Given the description of an element on the screen output the (x, y) to click on. 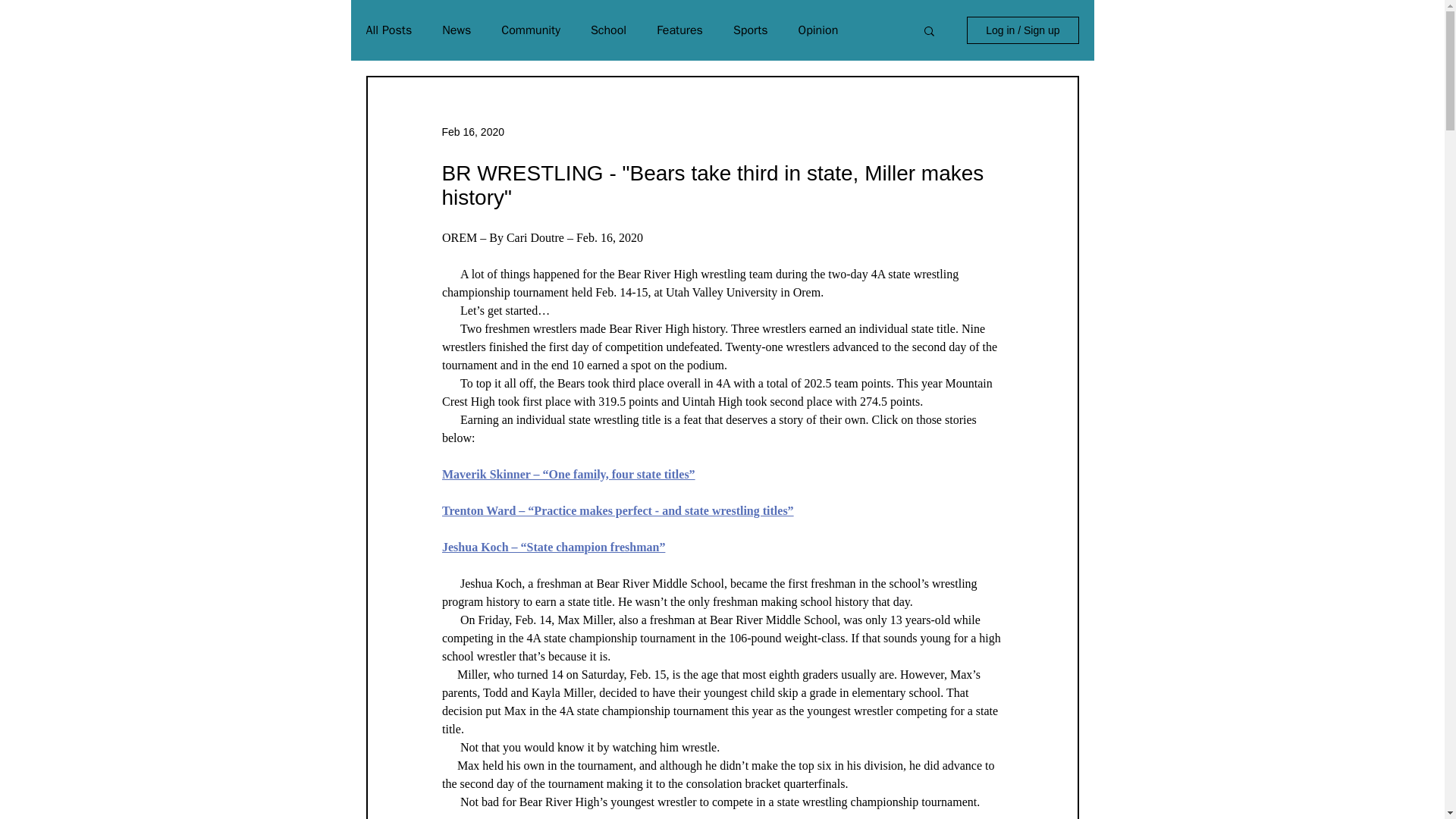
All Posts (388, 30)
Feb 16, 2020 (472, 132)
Community (530, 30)
Sports (750, 30)
School (608, 30)
News (456, 30)
Features (679, 30)
Opinion (817, 30)
